Given the description of an element on the screen output the (x, y) to click on. 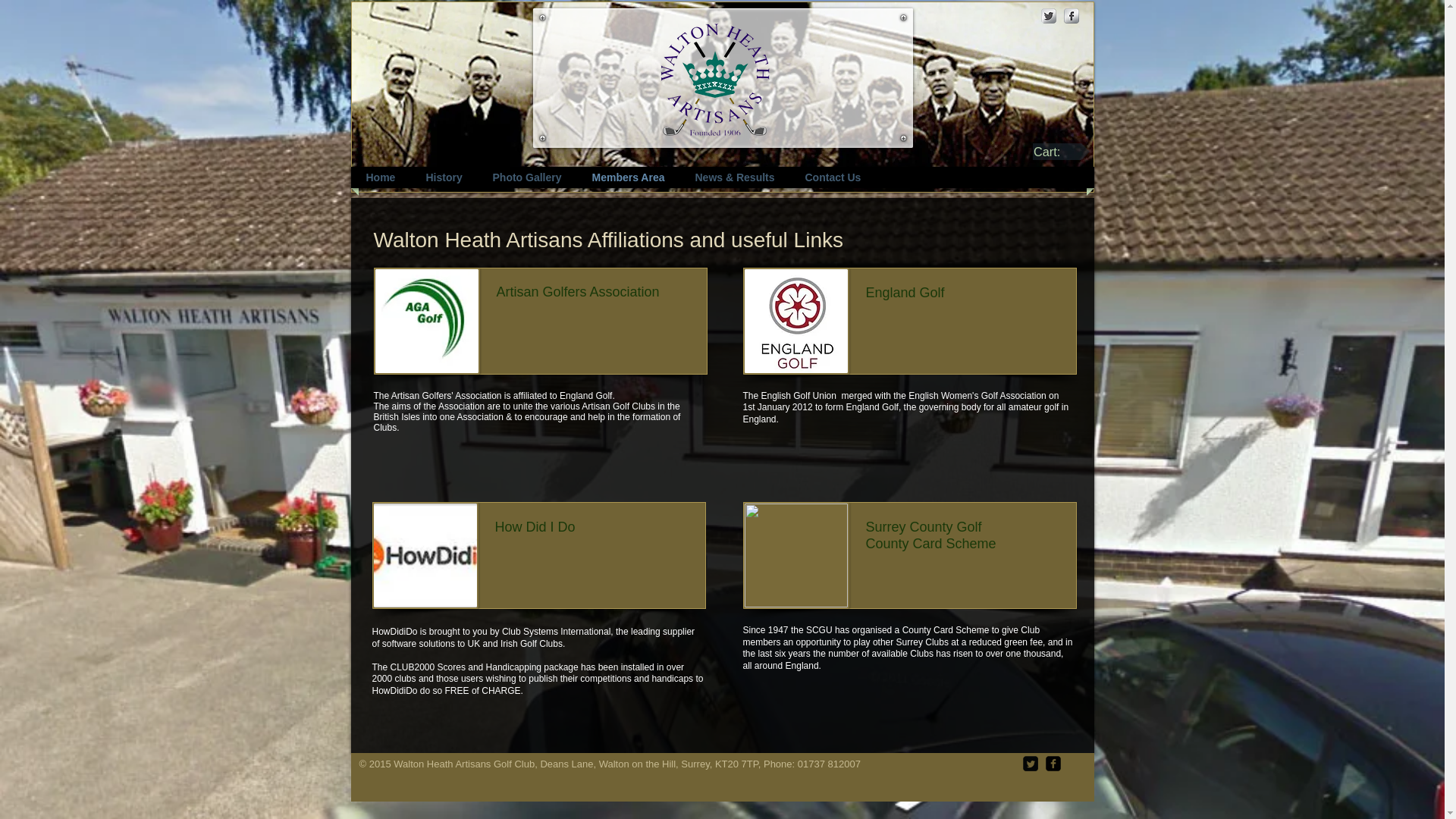
Cart: (1059, 151)
Home (381, 177)
History (443, 177)
Photo Gallery (526, 177)
Contact Us (832, 177)
Members Area (628, 177)
Cart: (1059, 151)
Walton Heath Artisans Golf Club Logo (714, 78)
